Given the description of an element on the screen output the (x, y) to click on. 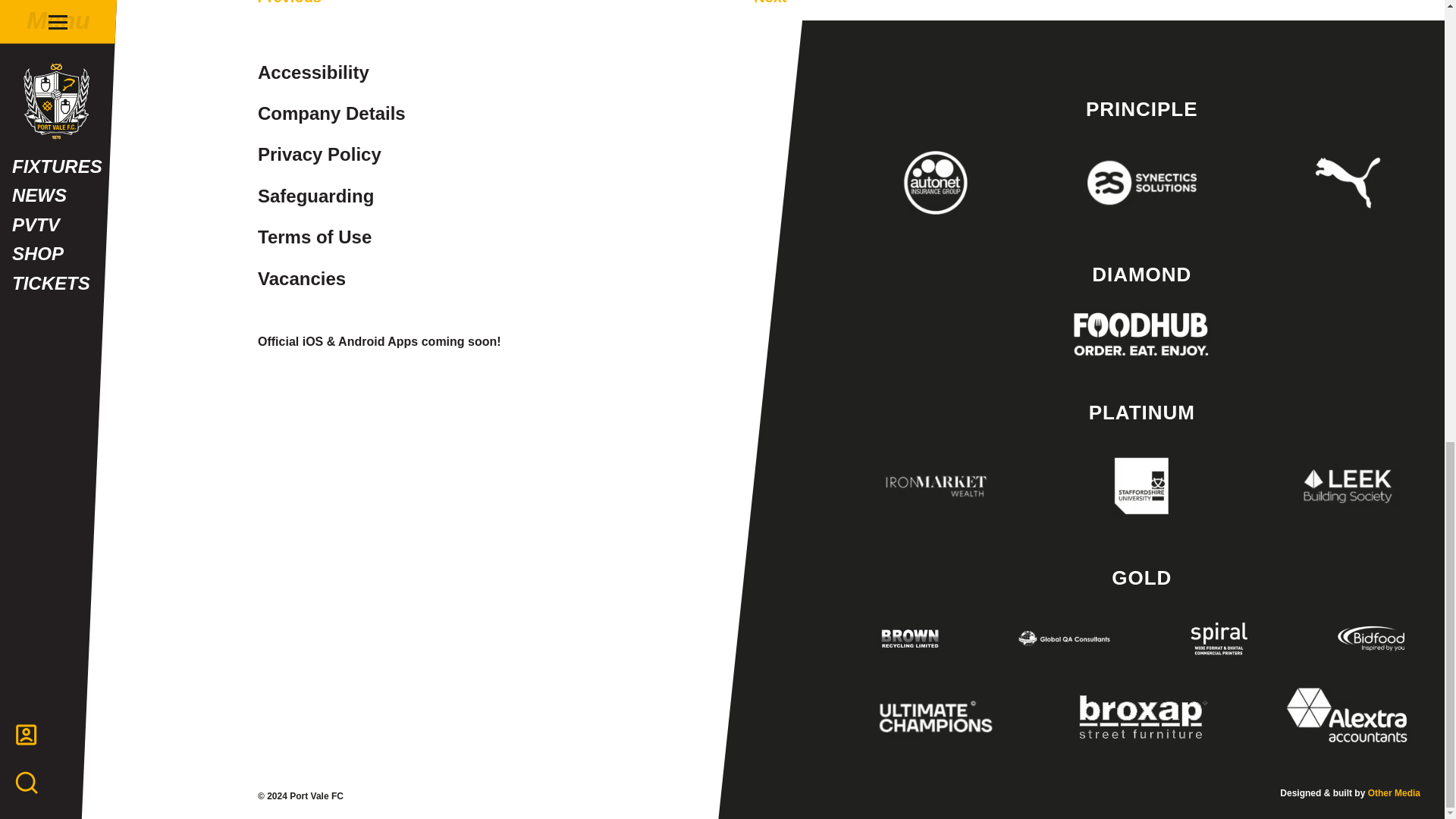
Foodhub (1141, 334)
Puma (1348, 182)
Synectics (1141, 182)
Staffordshire Uni (1141, 485)
Autonet (936, 182)
Ironmarket (936, 485)
